Given the description of an element on the screen output the (x, y) to click on. 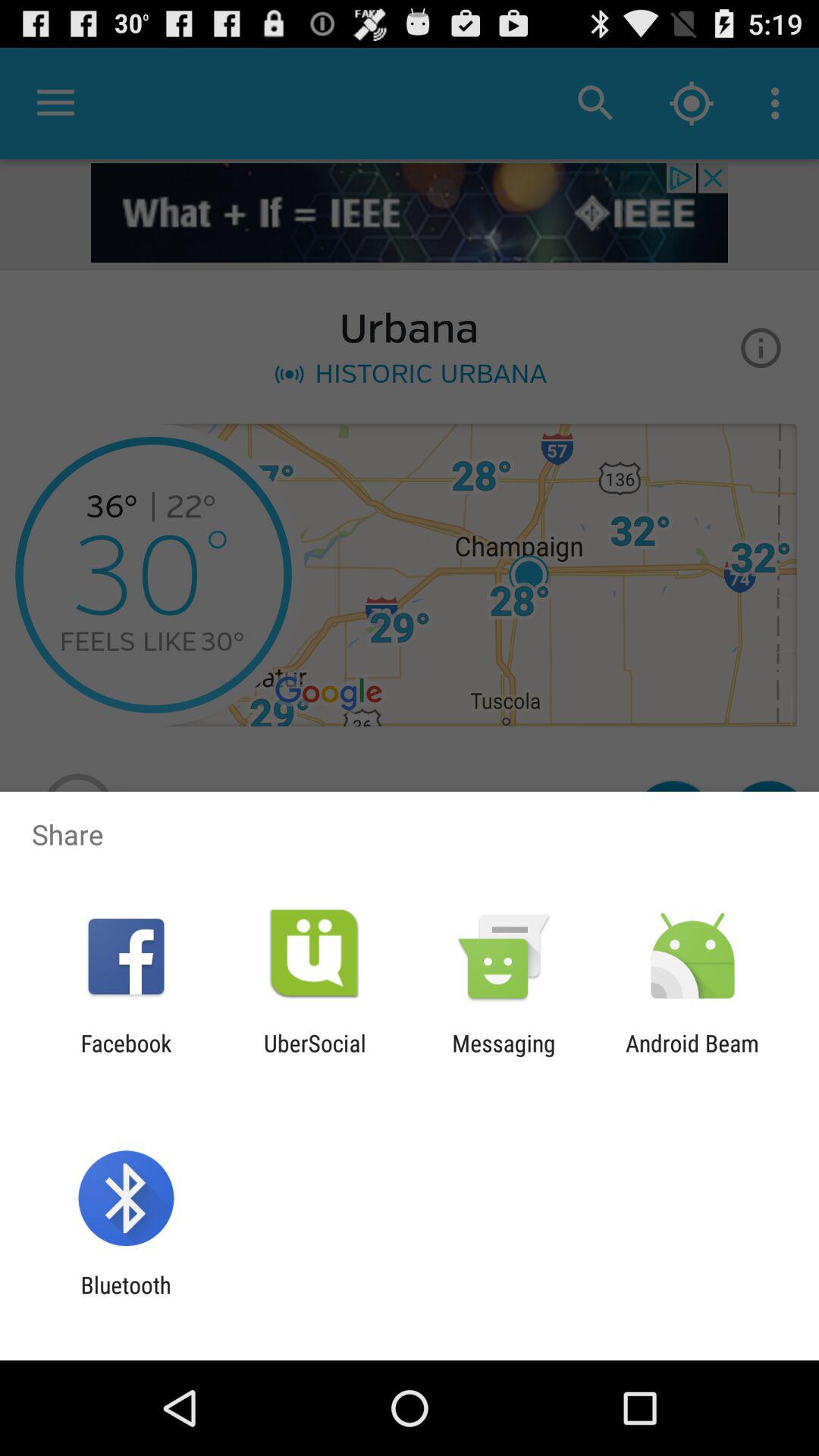
turn on item next to ubersocial app (503, 1056)
